Given the description of an element on the screen output the (x, y) to click on. 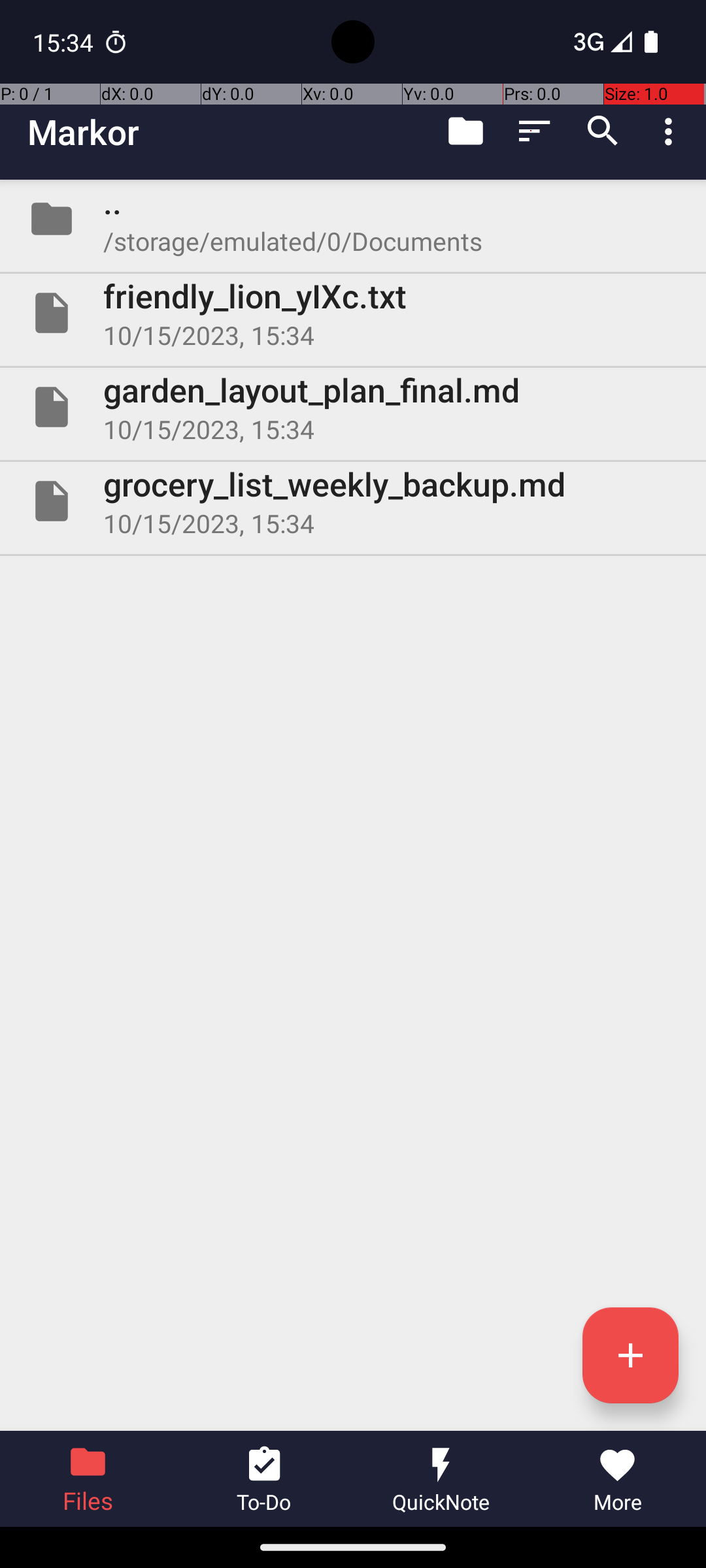
File friendly_lion_yIXc.txt  Element type: android.widget.LinearLayout (353, 312)
File garden_layout_plan_final.md  Element type: android.widget.LinearLayout (353, 406)
File grocery_list_weekly_backup.md  Element type: android.widget.LinearLayout (353, 500)
